Given the description of an element on the screen output the (x, y) to click on. 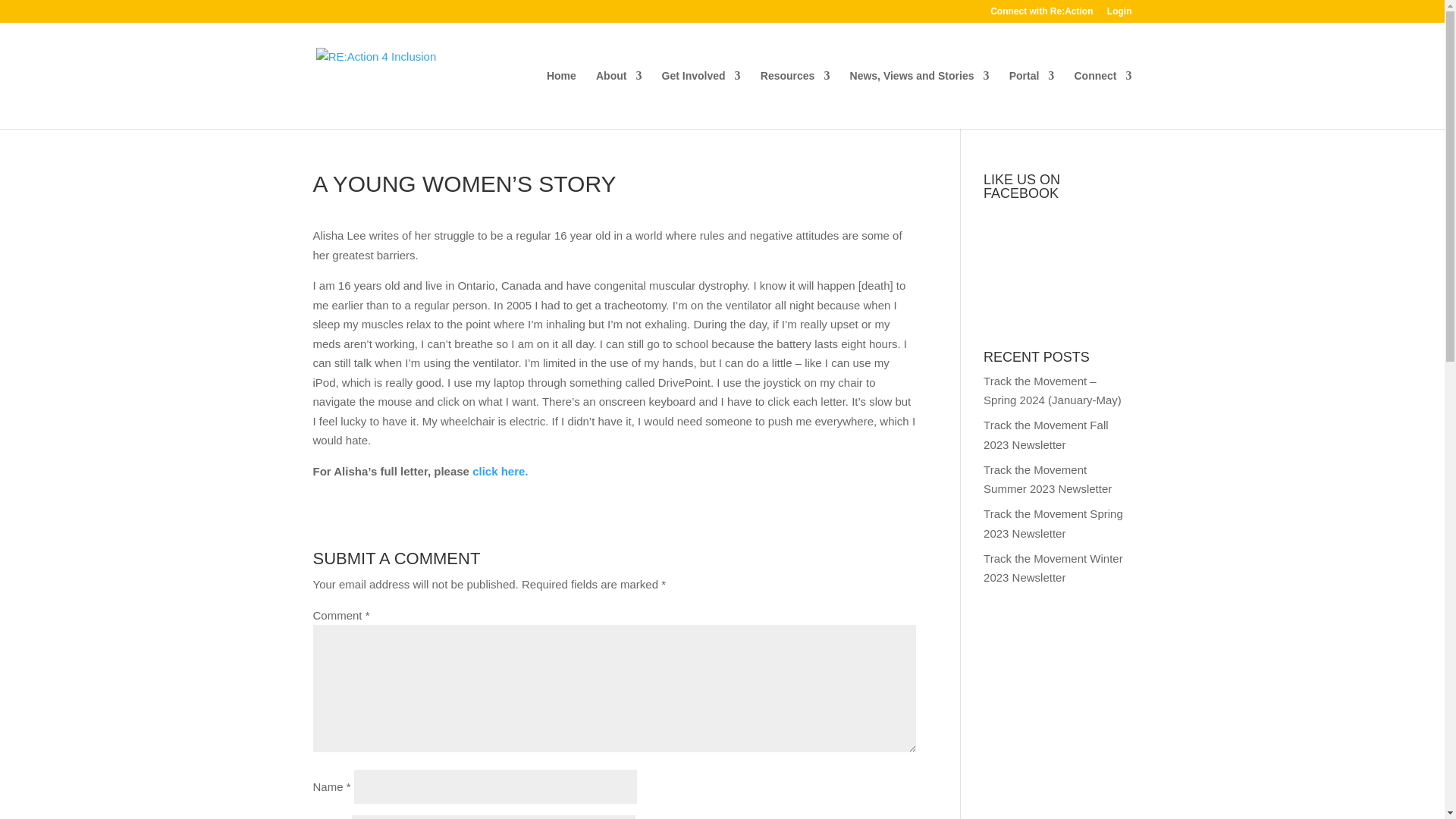
click here. (499, 470)
Login (1119, 14)
Resources (794, 99)
Get Involved (701, 99)
News, Views and Stories (920, 99)
Connect (1102, 99)
Connect with Re:Action (1041, 14)
